Given the description of an element on the screen output the (x, y) to click on. 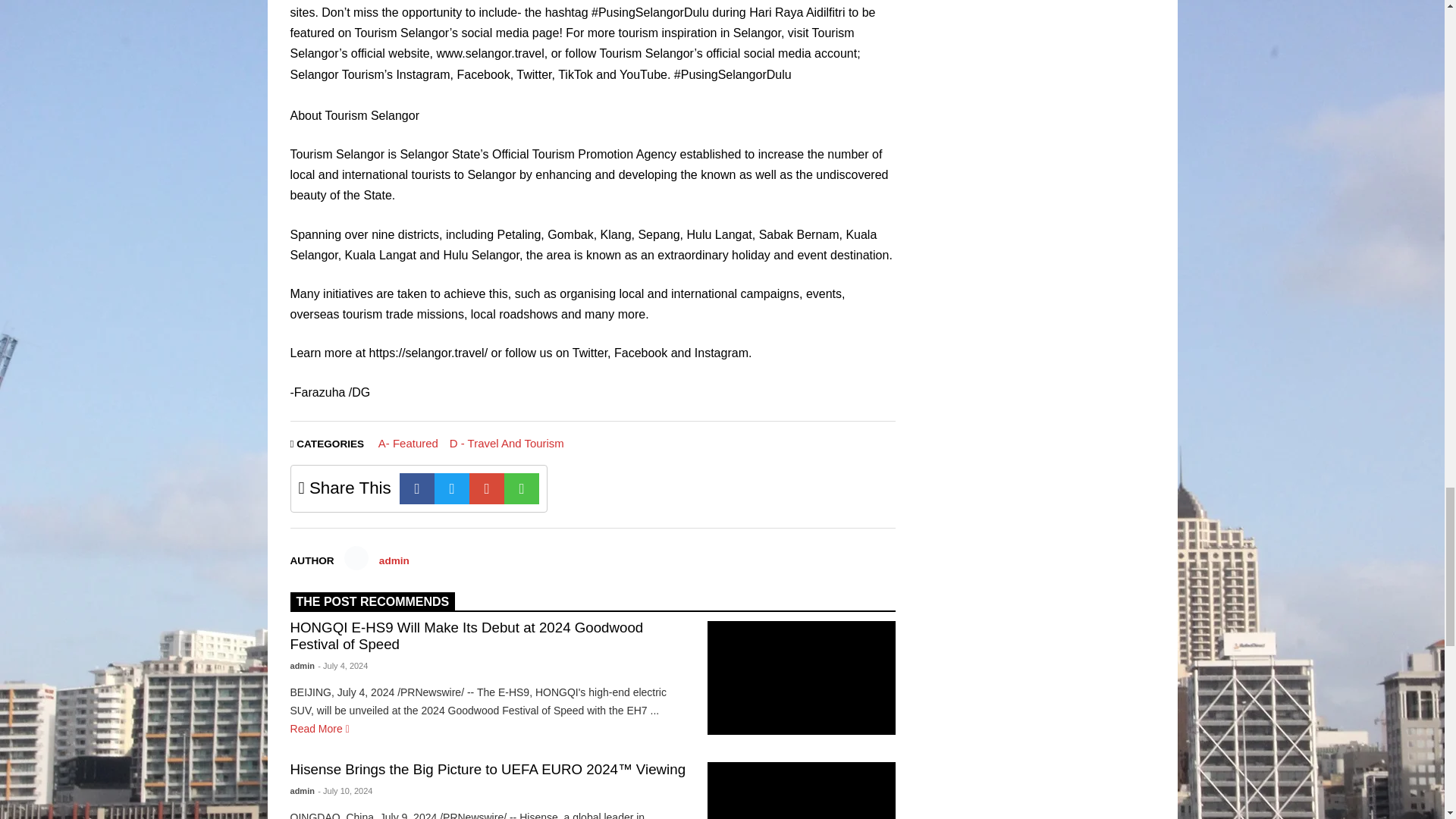
D - Travel And Tourism (506, 442)
Facebook (415, 488)
Twitter (450, 488)
E-mail (485, 488)
A- Featured (408, 442)
